Given the description of an element on the screen output the (x, y) to click on. 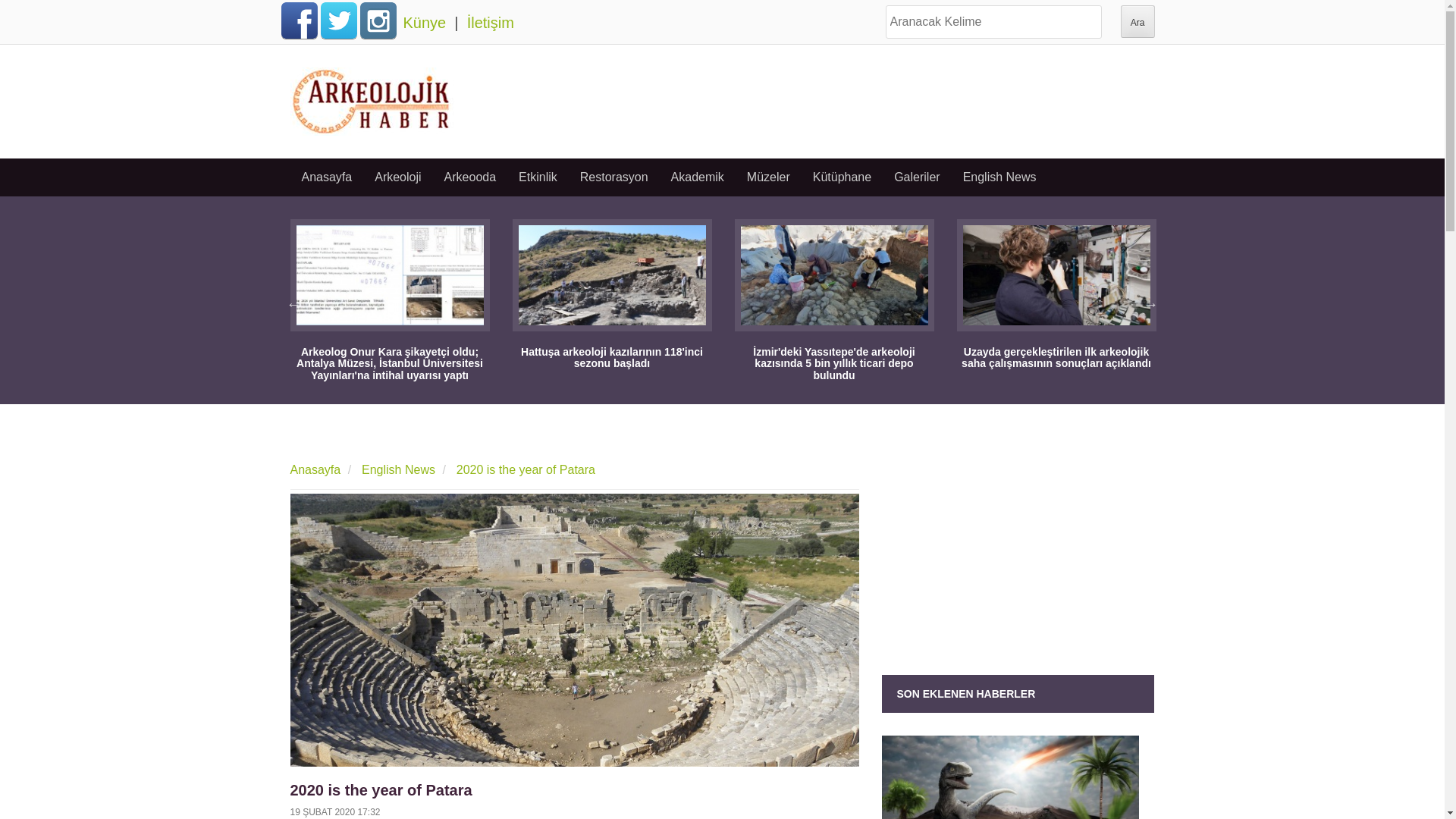
Arkeoloji (397, 177)
Ara (1137, 20)
Ara (1137, 20)
Aranacak Kelime: (993, 21)
Anasayfa (325, 177)
Instagram (377, 20)
Ara (1137, 20)
Twitter (338, 20)
Arkeolojik haber (370, 98)
Advertisement (861, 101)
